Given the description of an element on the screen output the (x, y) to click on. 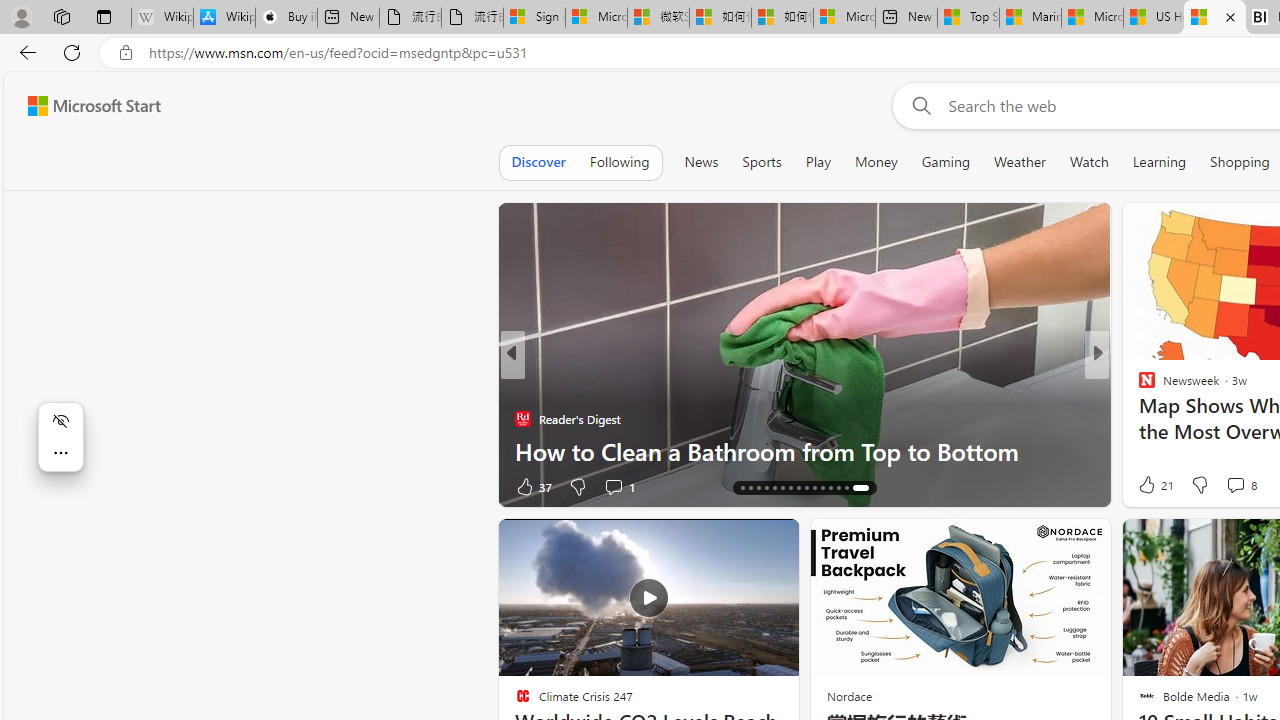
View comments 4 Comment (1229, 485)
AutomationID: tab-28 (850, 487)
AutomationID: tab-21 (793, 487)
Windows Central (1138, 386)
Sports (761, 161)
AutomationID: tab-17 (761, 487)
View comments 265 Comment (1234, 485)
37 Like (1149, 486)
The Weather Channel (1138, 386)
Marine life - MSN (1030, 17)
AutomationID: tab-22 (801, 487)
